Given the description of an element on the screen output the (x, y) to click on. 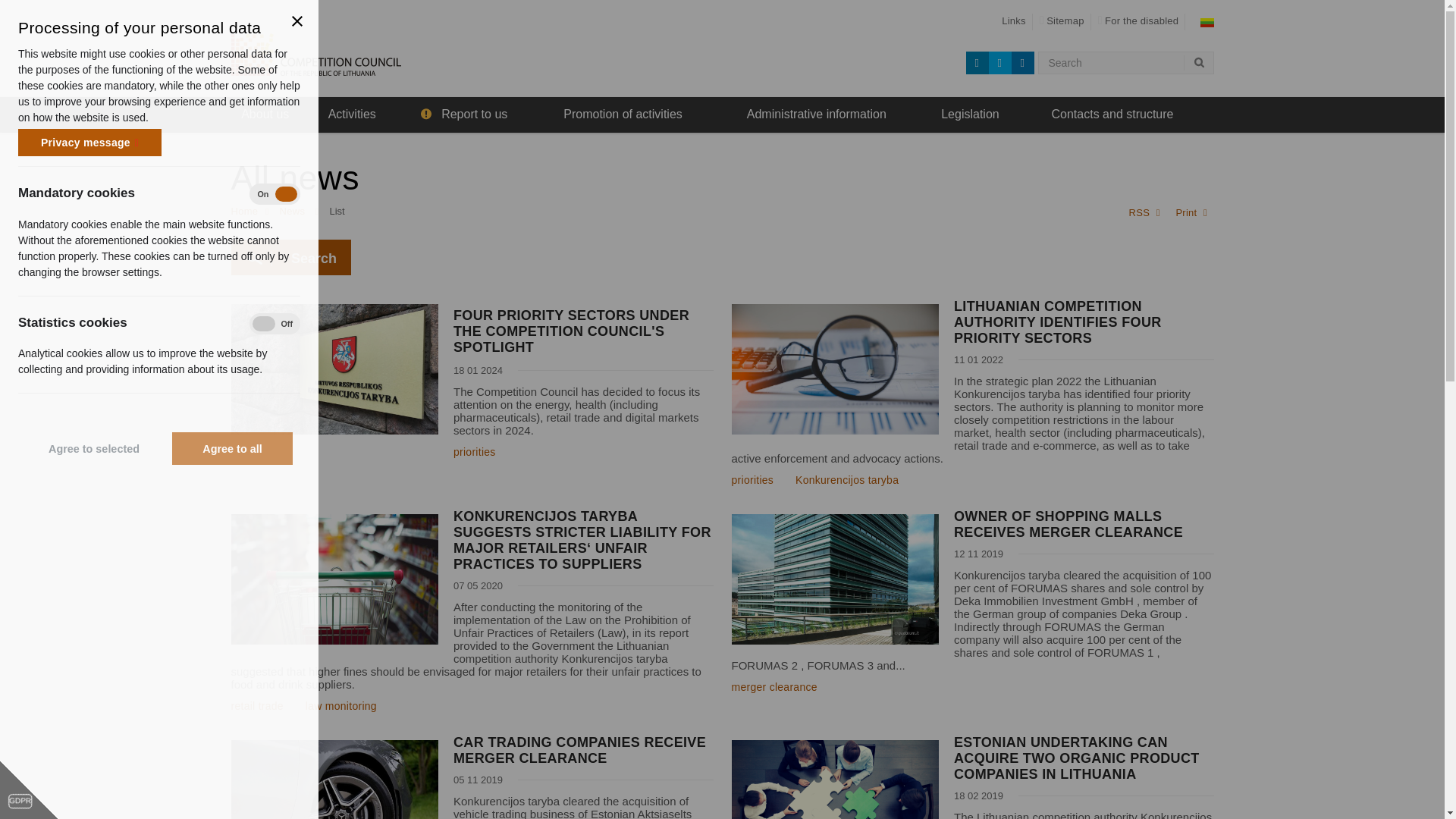
Search (1197, 62)
Sitemap (1061, 20)
Promotion of activities (622, 114)
Legislation (970, 114)
Administrative information (816, 114)
Links (1013, 20)
Contacts and structure (1112, 114)
Privacy message (89, 142)
Activities (351, 114)
About us (264, 114)
Agree to all (231, 448)
For the disabled (1138, 20)
Report to us (463, 114)
Agree to selected (93, 448)
